Given the description of an element on the screen output the (x, y) to click on. 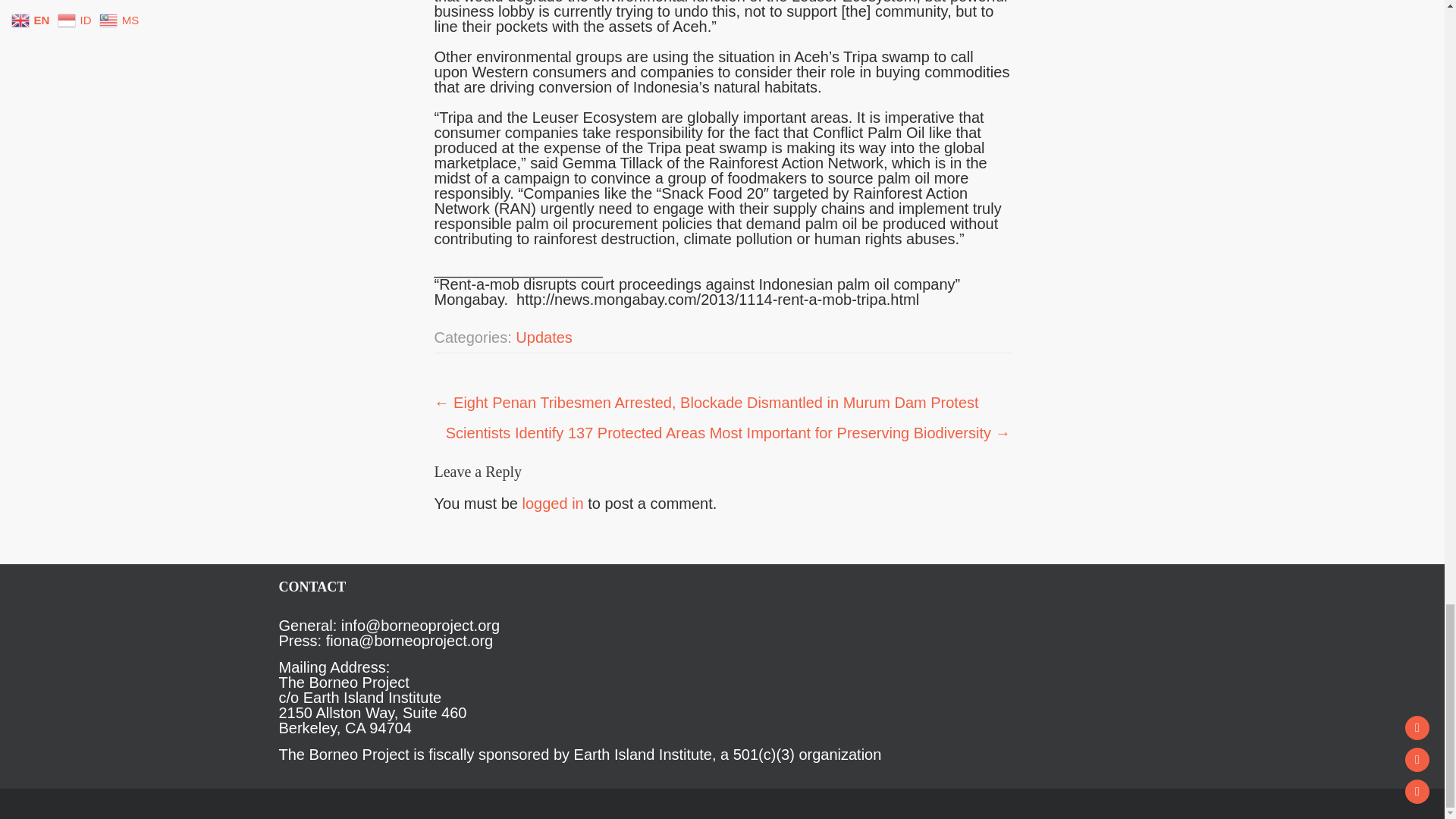
View all posts in Updates (543, 337)
Updates (543, 337)
logged in (552, 503)
